Given the description of an element on the screen output the (x, y) to click on. 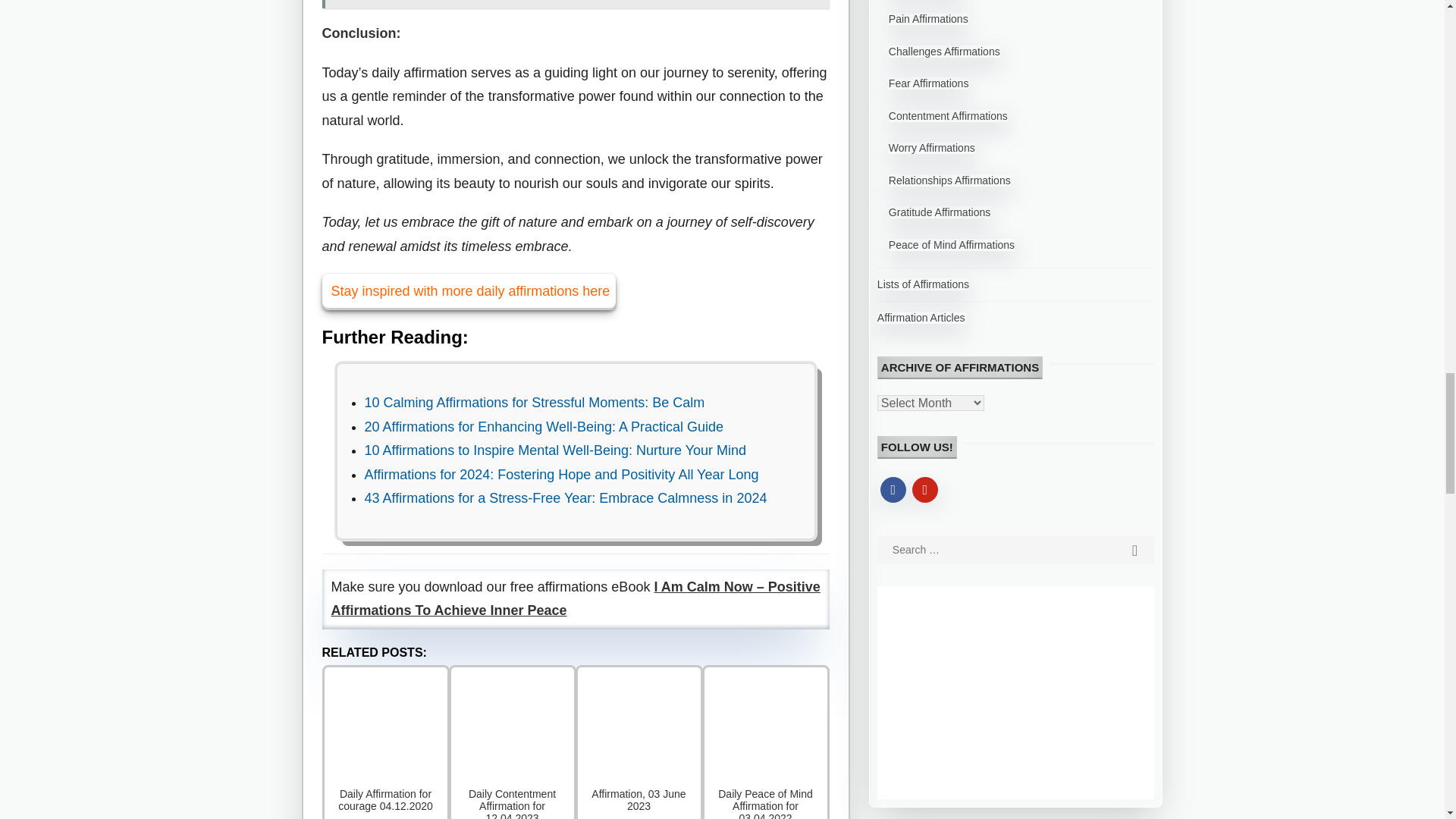
Facebook (892, 488)
10 Calming Affirmations for Stressful Moments: Be Calm (534, 402)
Similar set of affirmations:   Affirmation, 03 July 2023 (574, 4)
Stay inspired with more daily affirmations here (468, 291)
